Given the description of an element on the screen output the (x, y) to click on. 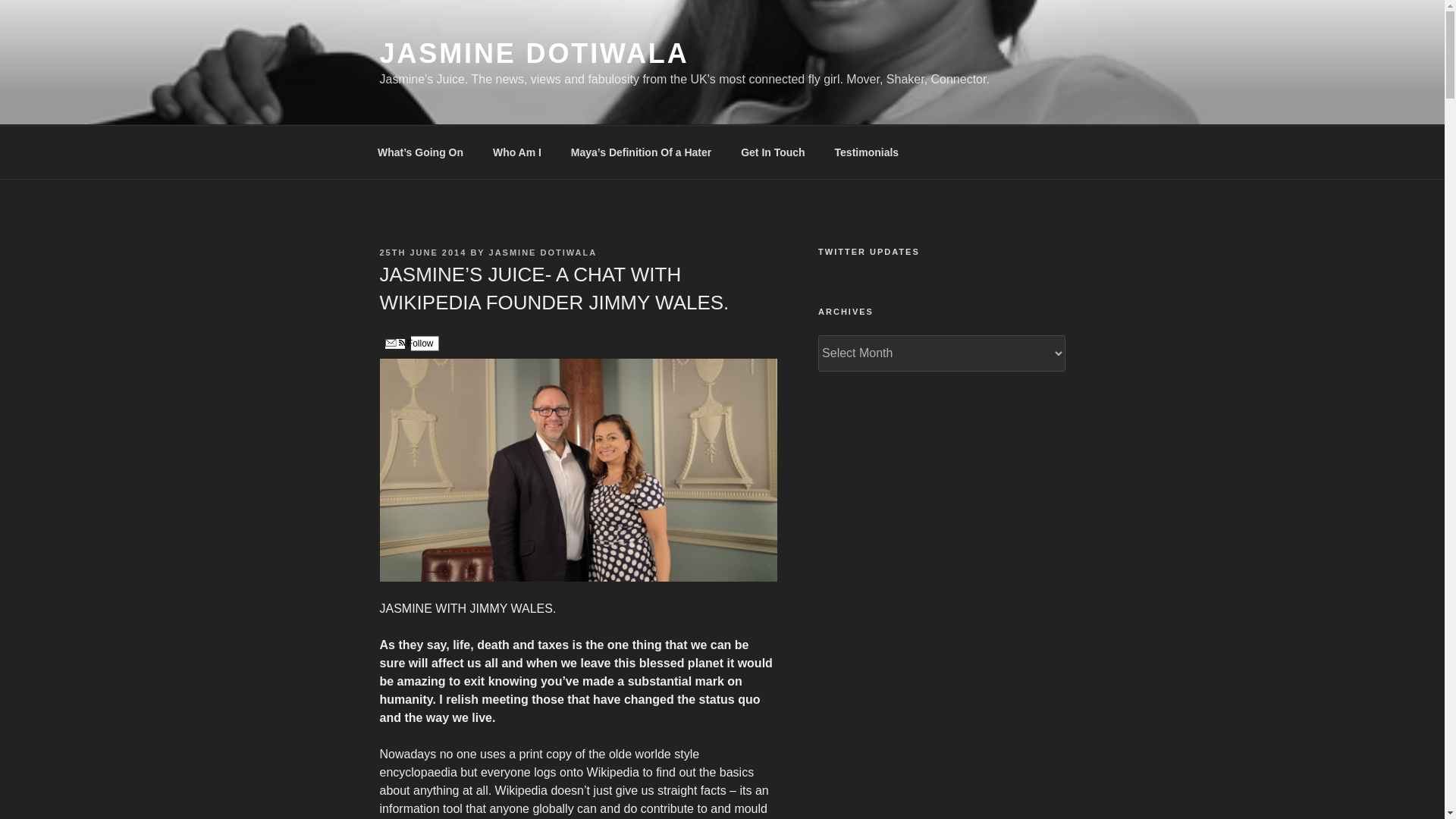
Testimonials (866, 151)
TWITTER UPDATES (941, 251)
25TH JUNE 2014 (421, 252)
Email, RSS (394, 343)
JASMINE DOTIWALA (542, 252)
JASMINE DOTIWALA (533, 52)
Who Am I (516, 151)
Get In Touch (773, 151)
Follow (408, 343)
